Given the description of an element on the screen output the (x, y) to click on. 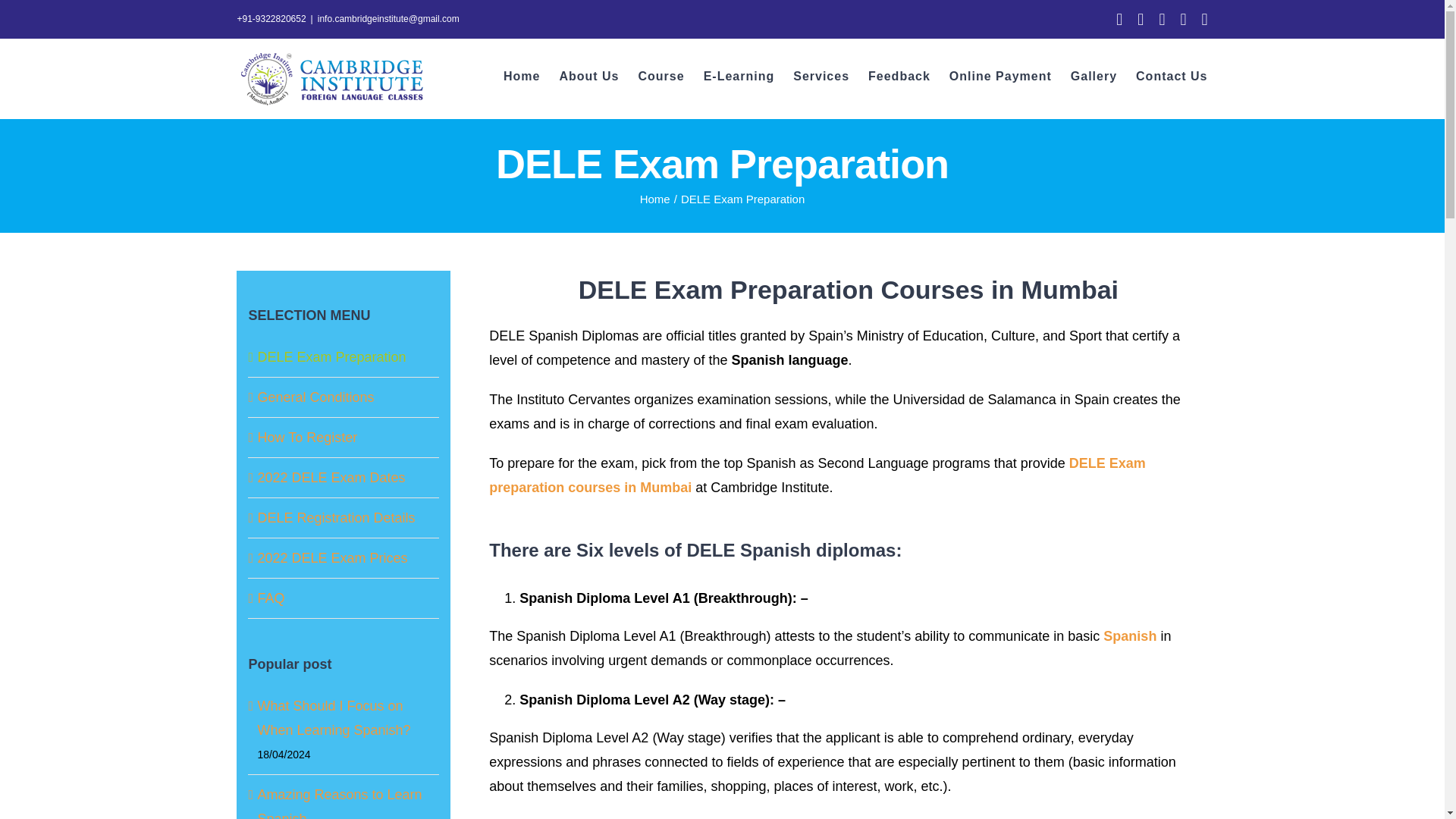
E-Learning (738, 76)
